Given the description of an element on the screen output the (x, y) to click on. 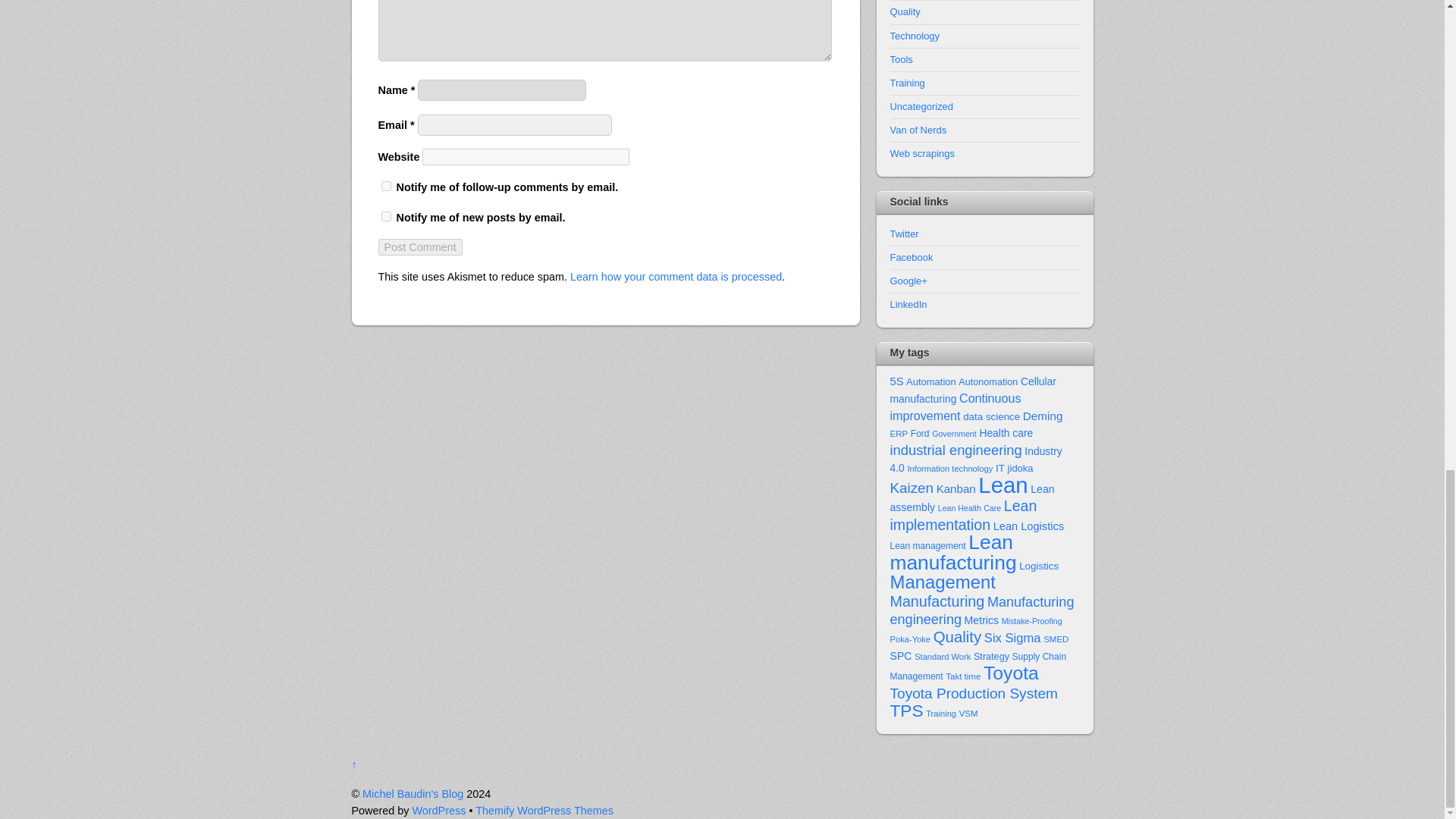
Post Comment (419, 247)
subscribe (385, 216)
Post Comment (419, 247)
Learn how your comment data is processed (675, 276)
subscribe (385, 185)
